Given the description of an element on the screen output the (x, y) to click on. 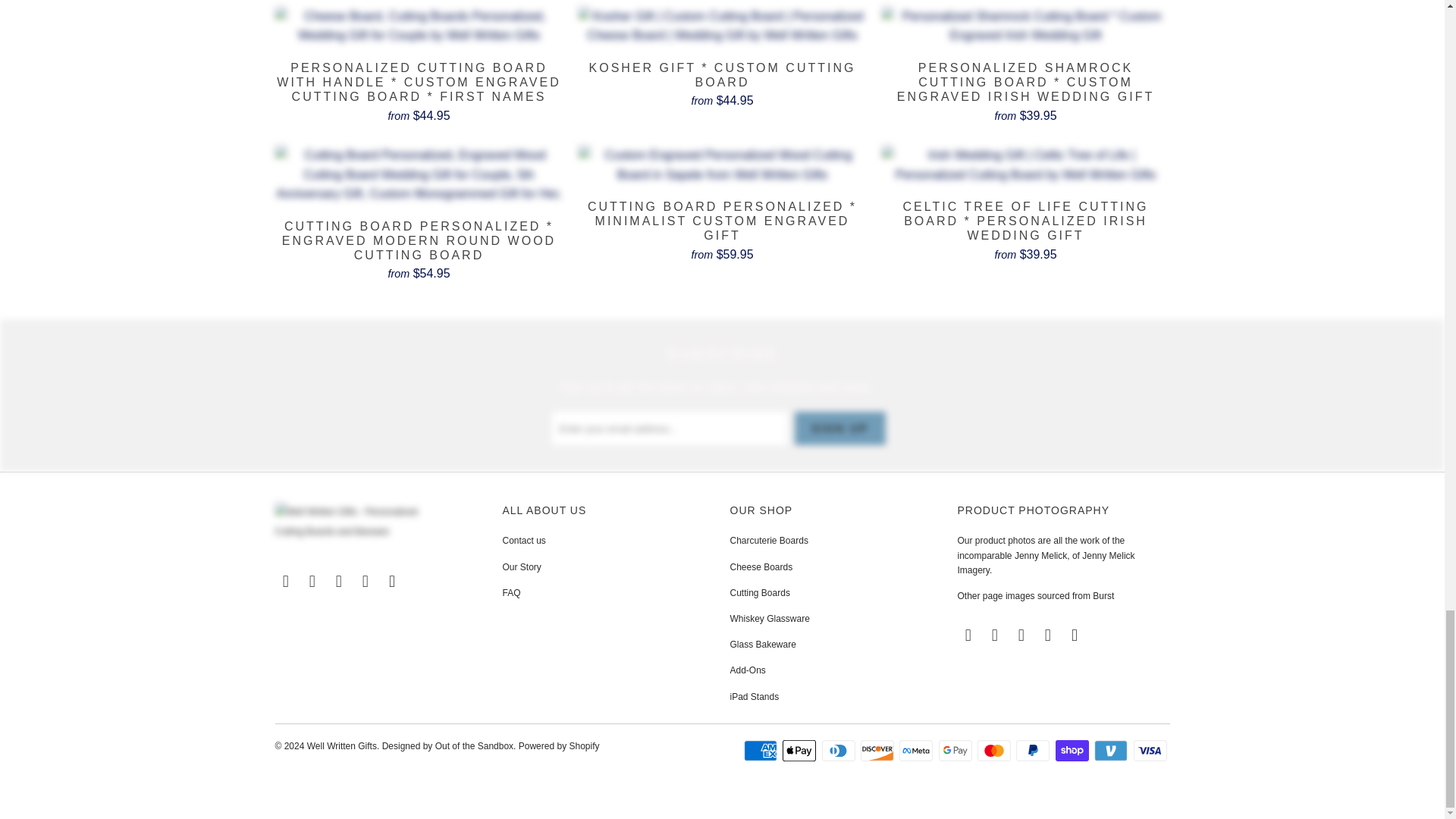
Sign Up (839, 428)
Visa (1150, 750)
PayPal (1034, 750)
Diners Club (840, 750)
Google Pay (957, 750)
Well Written Gifts on Twitter (286, 581)
Mastercard (994, 750)
Venmo (1112, 750)
Discover (878, 750)
Meta Pay (917, 750)
Shop Pay (1073, 750)
American Express (762, 750)
Apple Pay (800, 750)
